Given the description of an element on the screen output the (x, y) to click on. 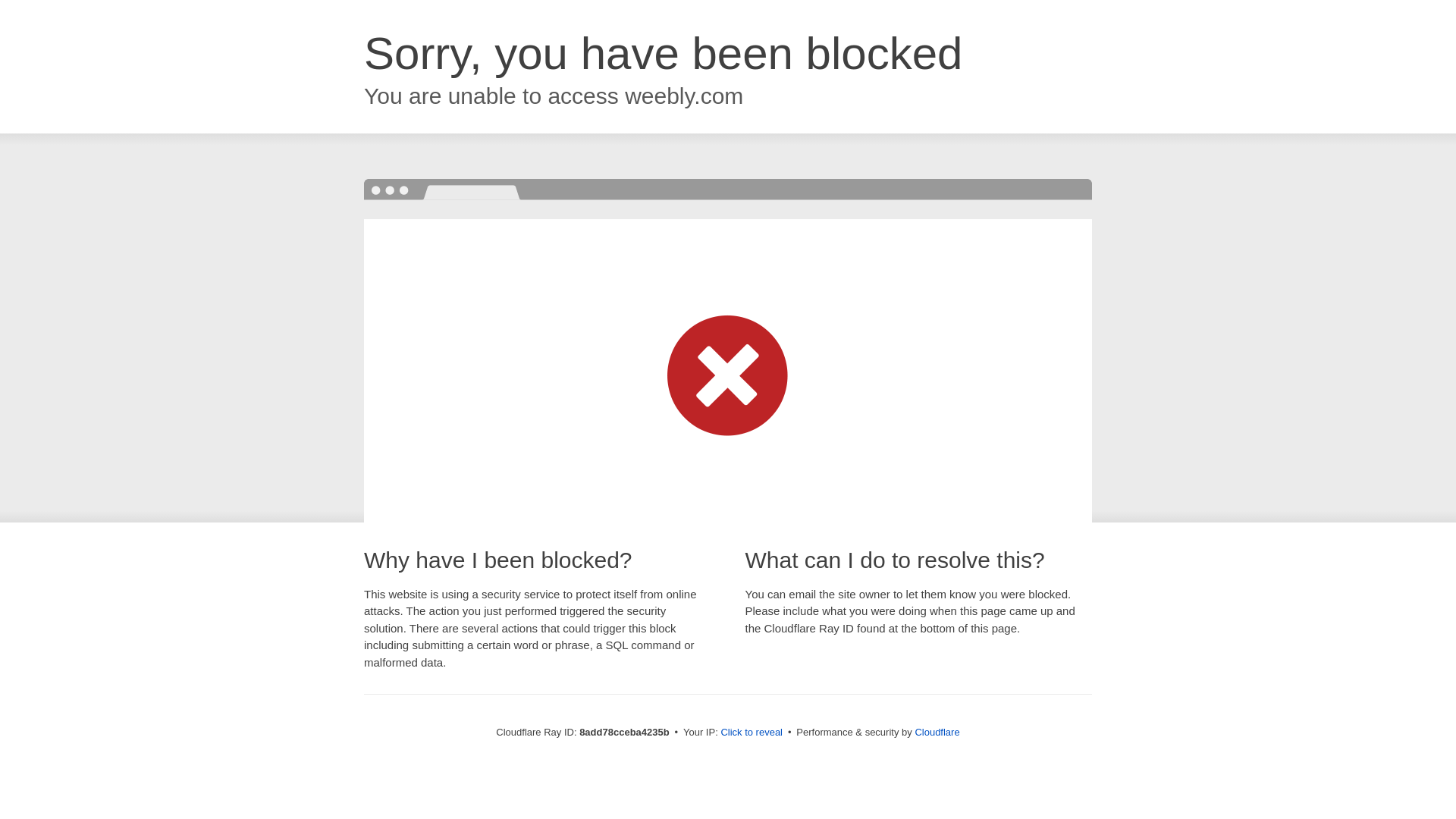
Click to reveal (751, 732)
Cloudflare (936, 731)
